Given the description of an element on the screen output the (x, y) to click on. 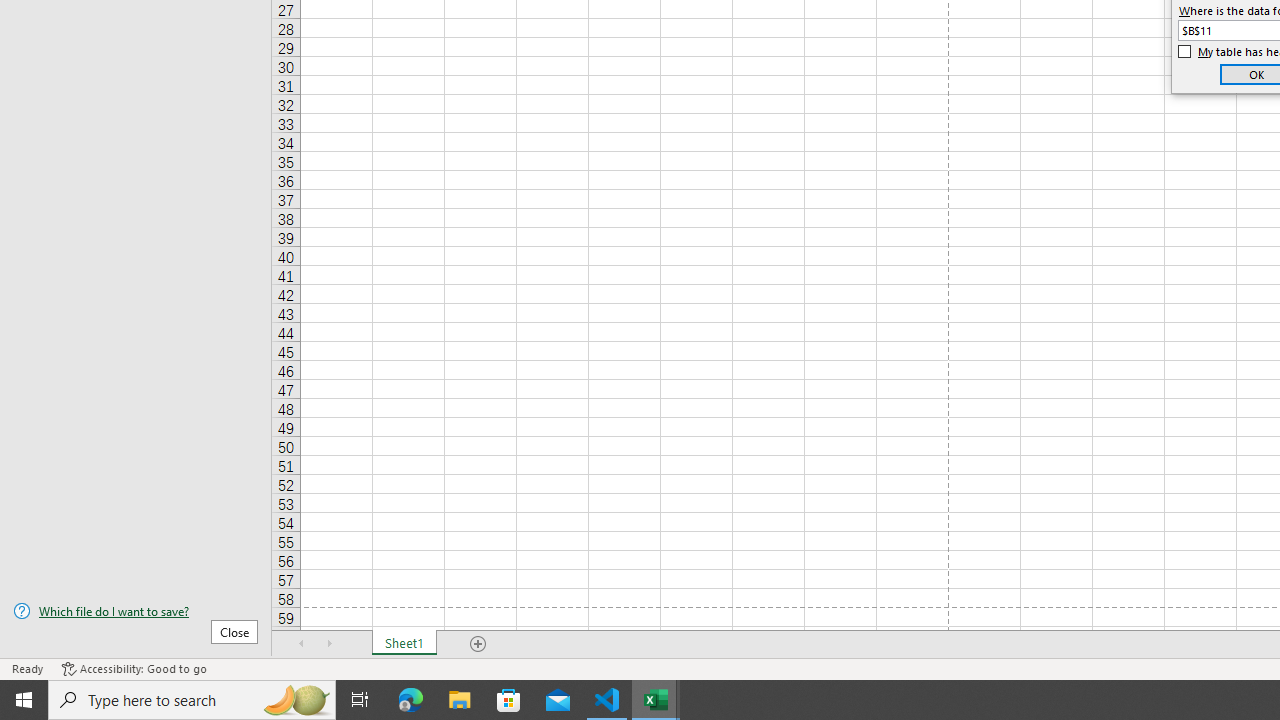
Close (234, 631)
Which file do I want to save? (136, 611)
Scroll Right (330, 644)
Add Sheet (478, 644)
Accessibility Checker Accessibility: Good to go (134, 668)
Scroll Left (302, 644)
Sheet1 (404, 644)
